Given the description of an element on the screen output the (x, y) to click on. 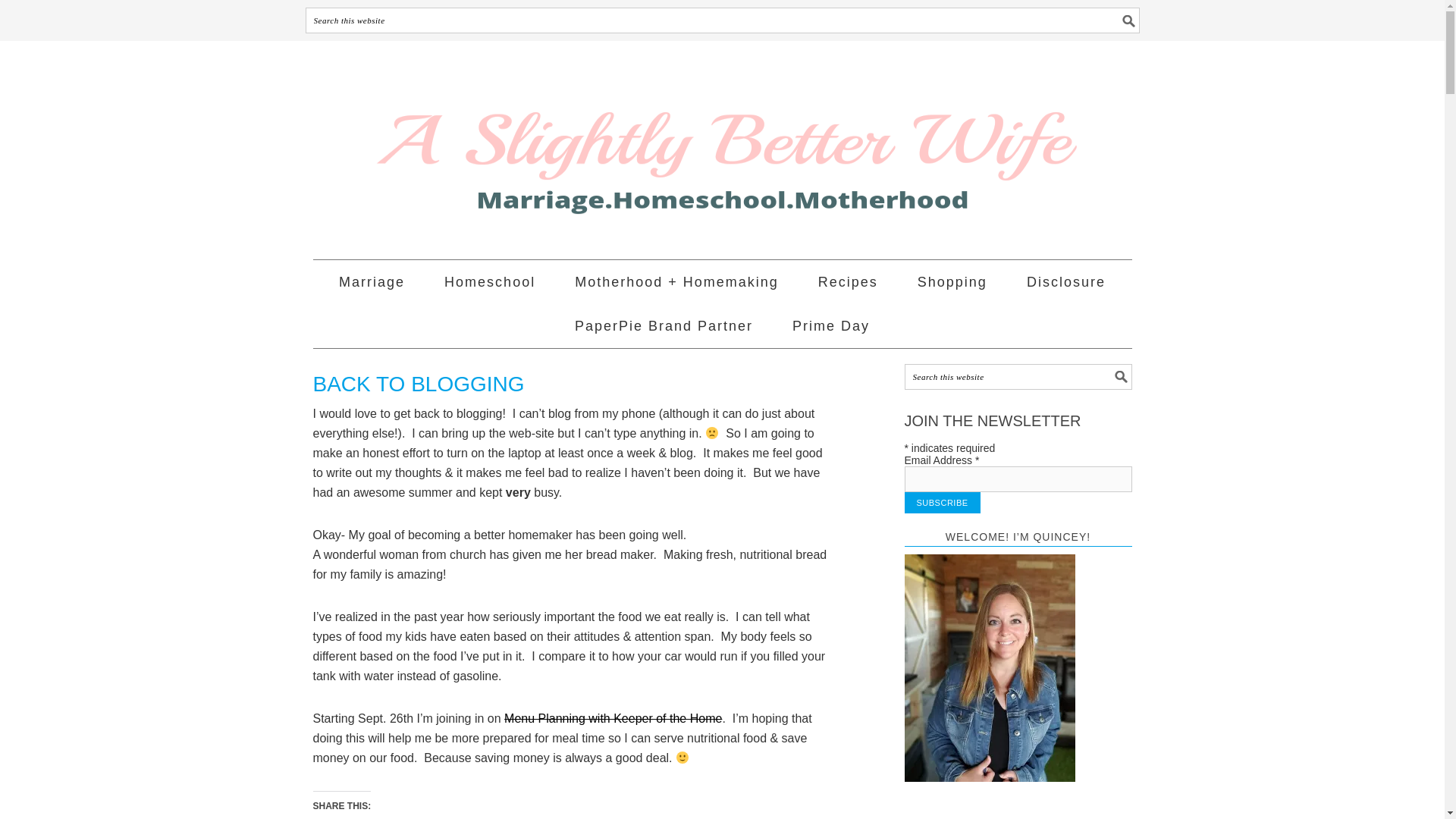
Homeschool (489, 281)
Disclosure (1065, 281)
Shopping (952, 281)
Marriage (371, 281)
PaperPie Brand Partner (663, 325)
Prime Day (830, 325)
Subscribe (941, 502)
Recipes (847, 281)
Menu Planning with Keeper of the Home (612, 717)
